Given the description of an element on the screen output the (x, y) to click on. 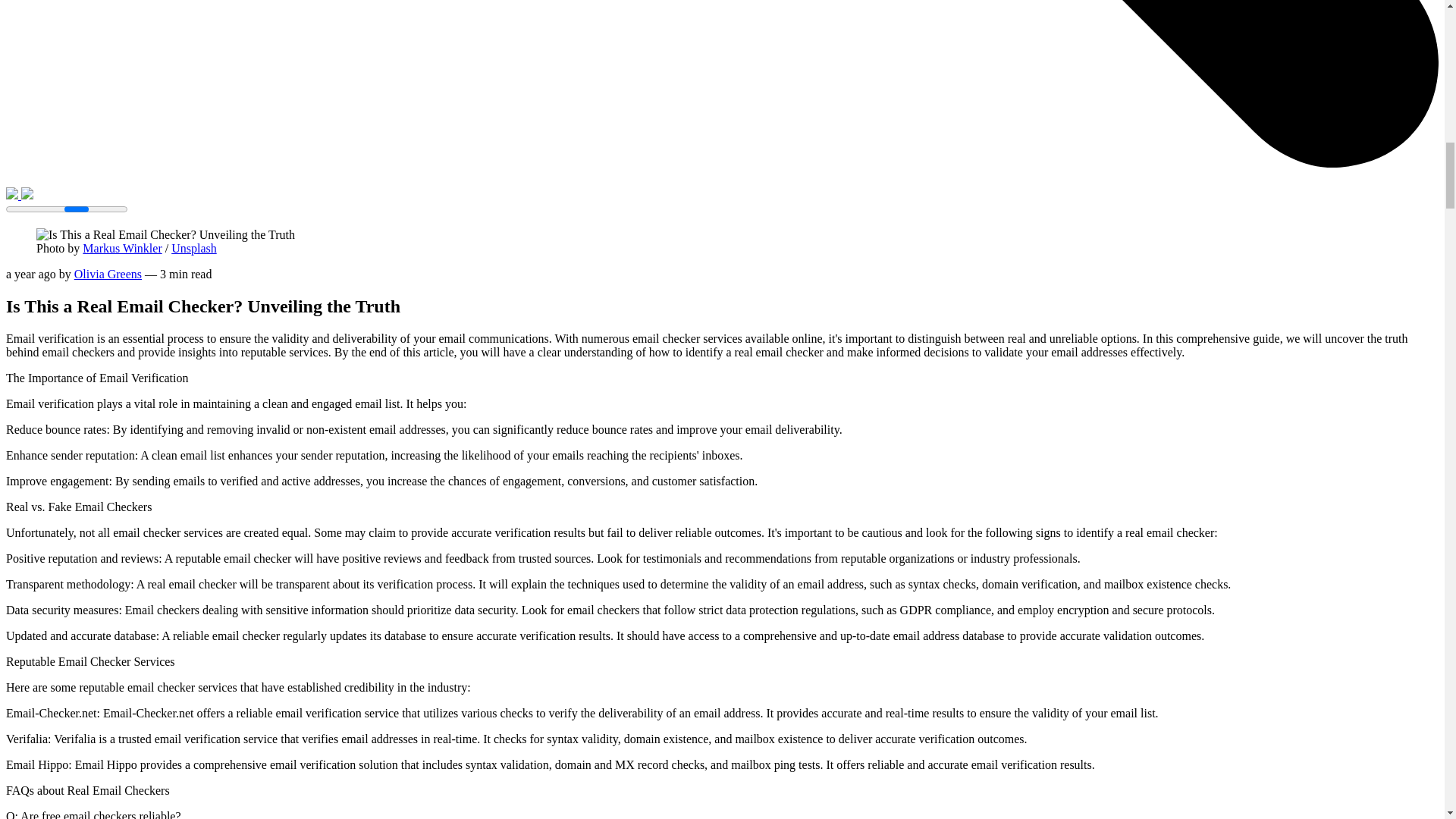
Unsplash (193, 247)
Olivia Greens (107, 273)
Markus Winkler (121, 247)
